Given the description of an element on the screen output the (x, y) to click on. 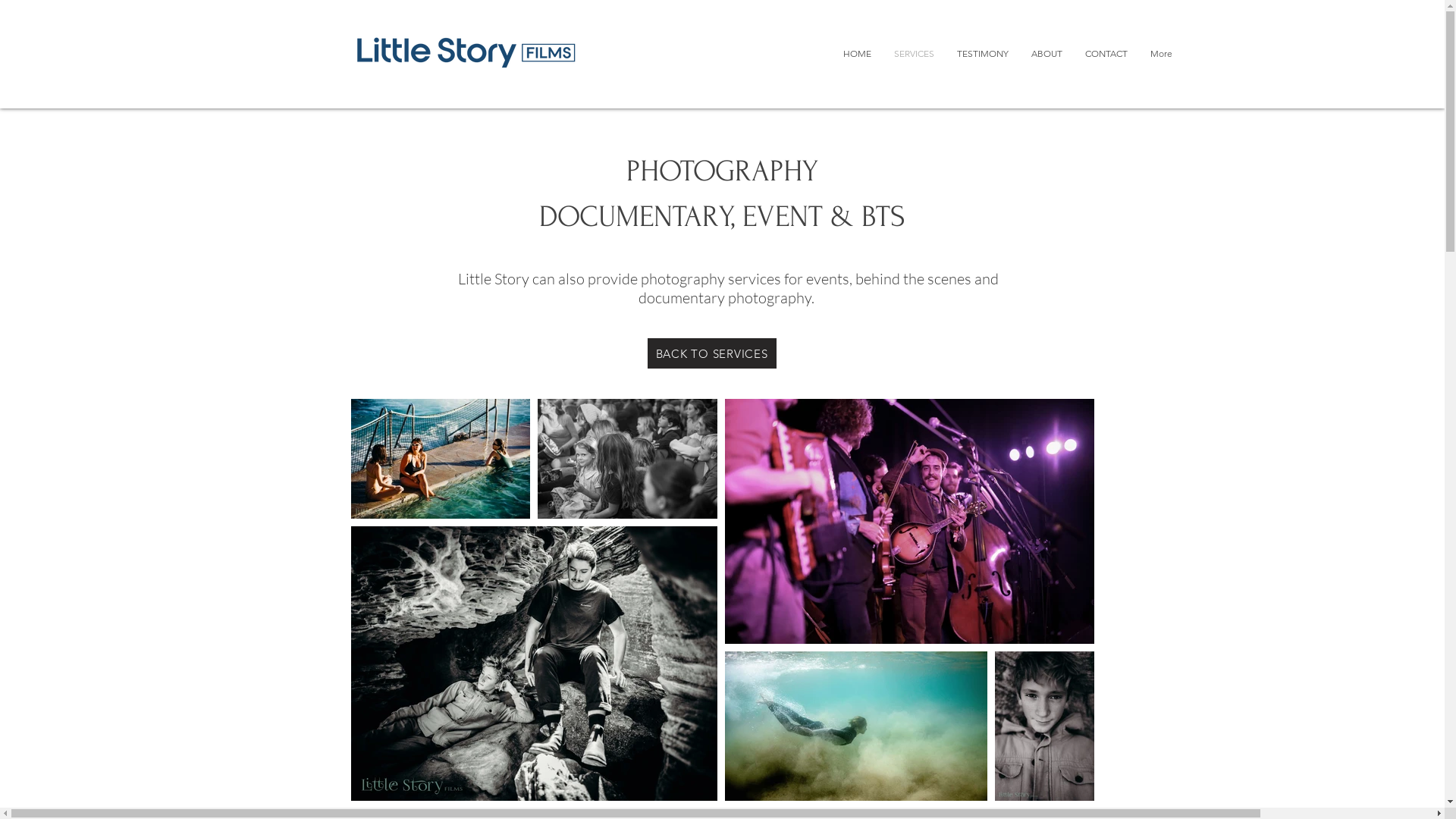
SERVICES Element type: text (913, 61)
TESTIMONY Element type: text (981, 61)
HOME Element type: text (856, 61)
CONTACT Element type: text (1106, 61)
BACK TO SERVICES Element type: text (711, 353)
ABOUT Element type: text (1046, 61)
